Given the description of an element on the screen output the (x, y) to click on. 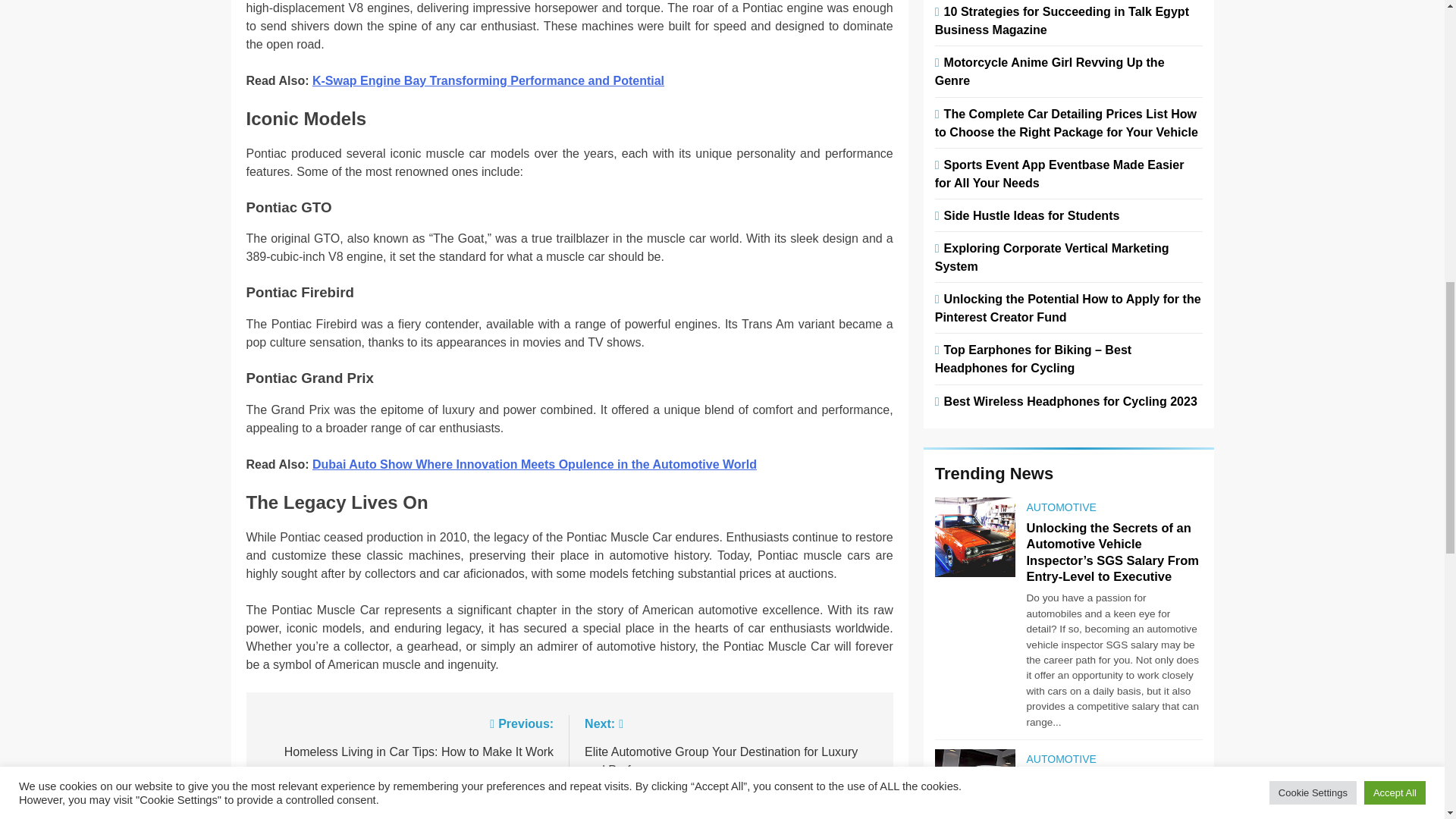
K-Swap Engine Bay Transforming Performance and Potential (488, 80)
